Given the description of an element on the screen output the (x, y) to click on. 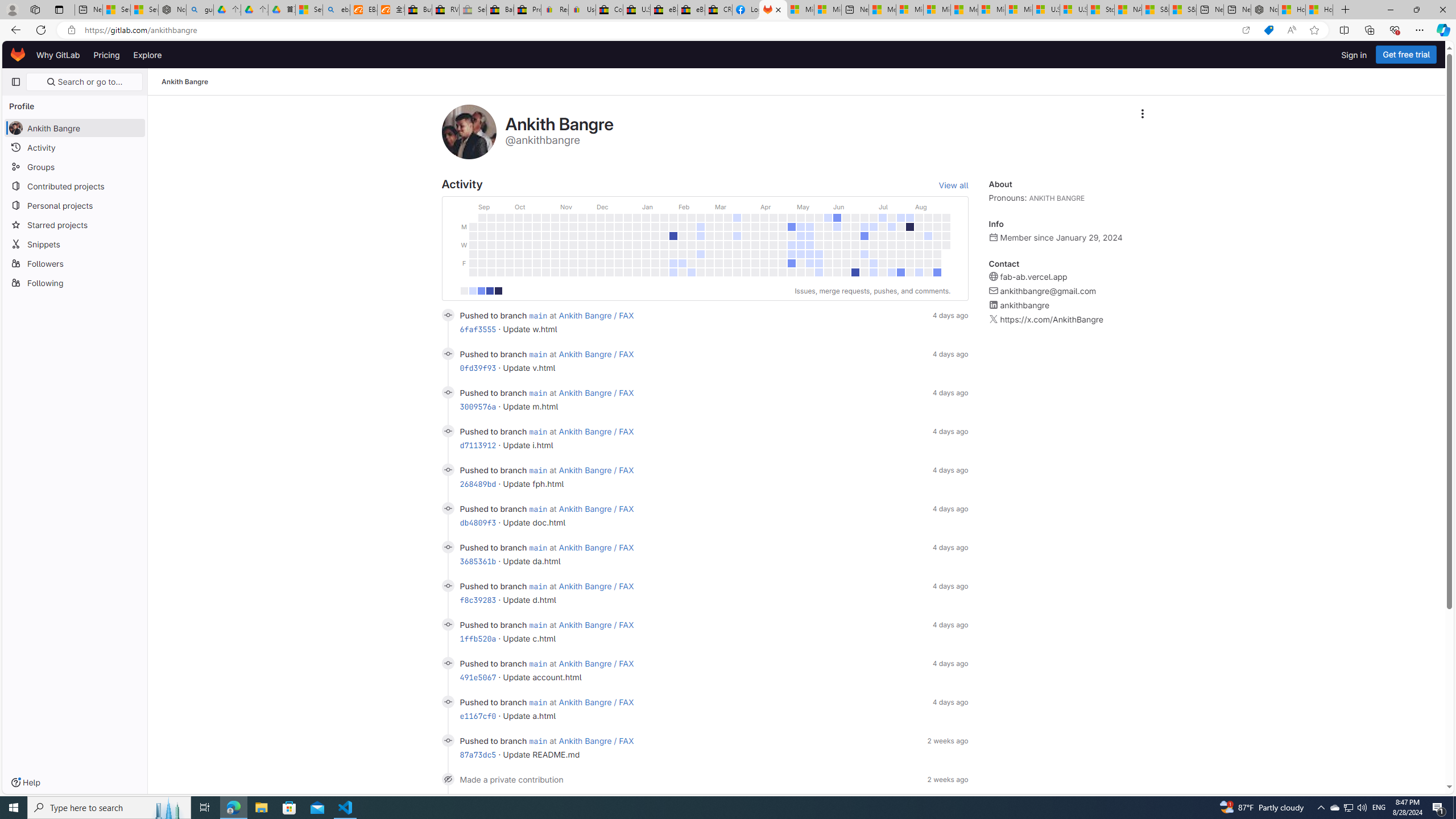
268489bd (478, 483)
Register: Create a personal eBay account (554, 9)
